Given the description of an element on the screen output the (x, y) to click on. 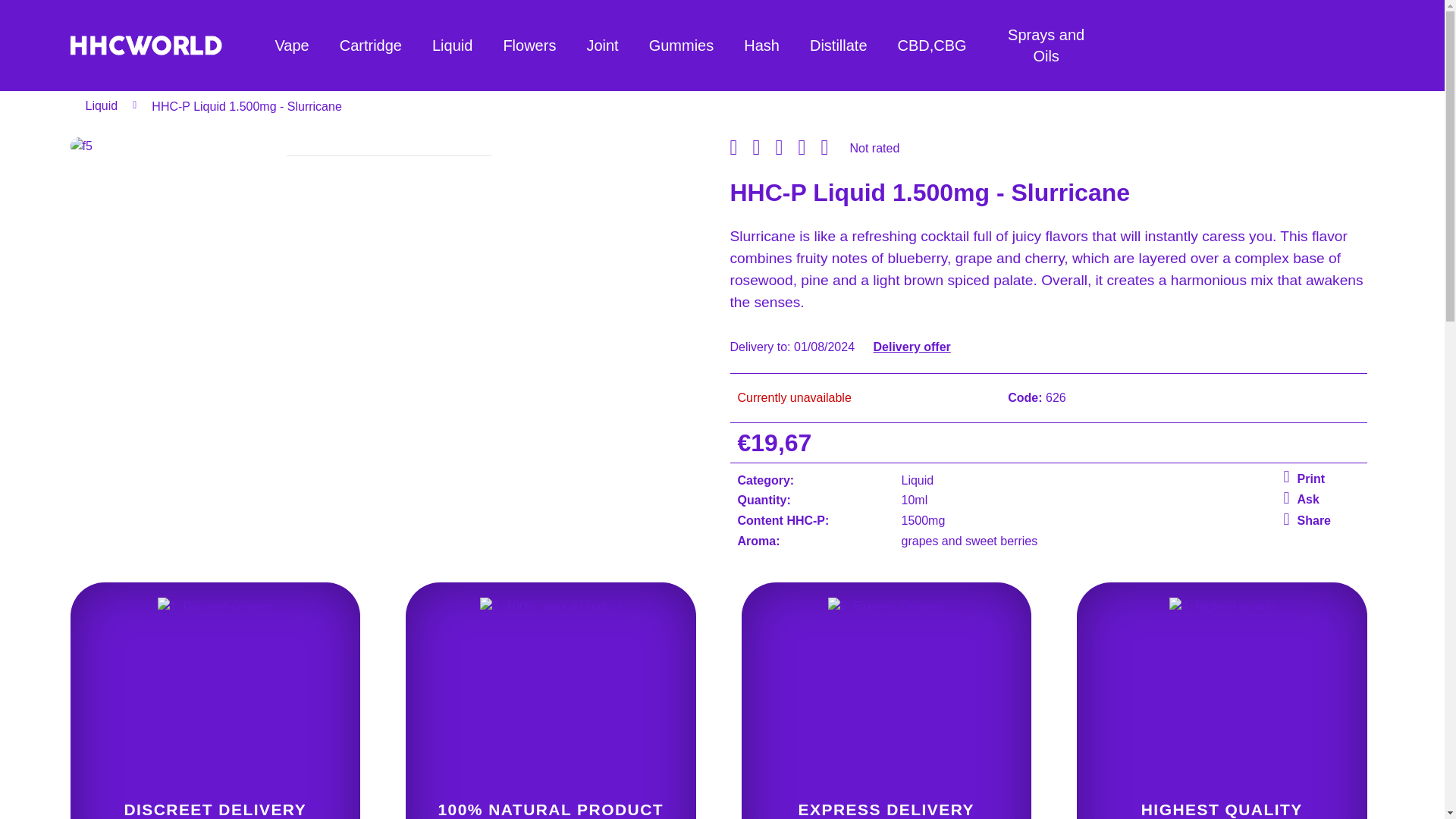
Share product (809, 148)
Speak to a sales advisor (1320, 520)
Cartridge (1320, 499)
Flowers (832, 148)
Print product (785, 148)
